Given the description of an element on the screen output the (x, y) to click on. 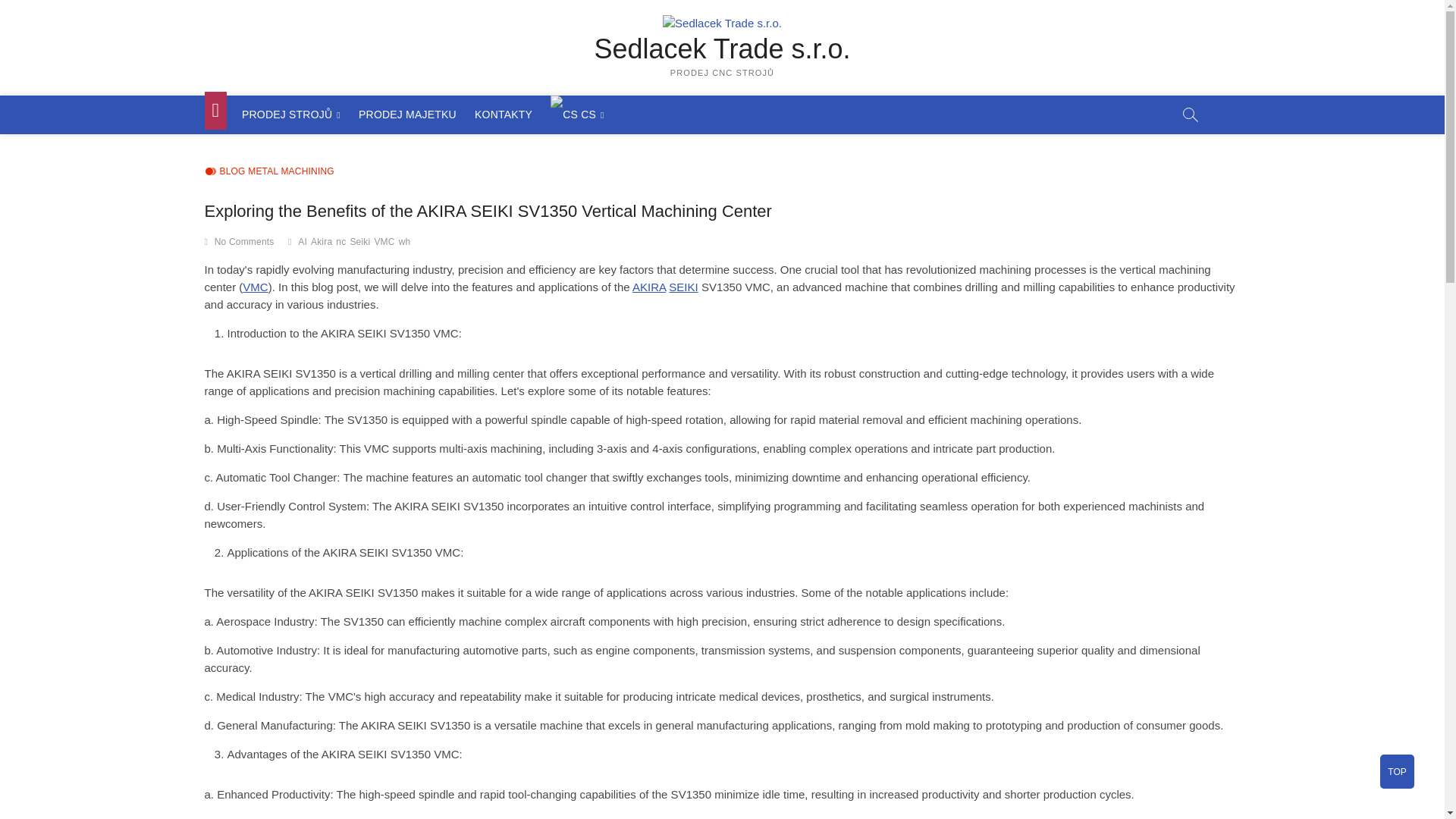
Posts tagged with Akira (648, 286)
Akira (323, 243)
Posts tagged with VMC (255, 286)
AI (304, 243)
KONTAKTY (503, 114)
Sedlacek Trade s.r.o. (722, 49)
nc (342, 243)
AKIRA (648, 286)
Posts tagged with Seiki (682, 286)
VMC (255, 286)
